Given the description of an element on the screen output the (x, y) to click on. 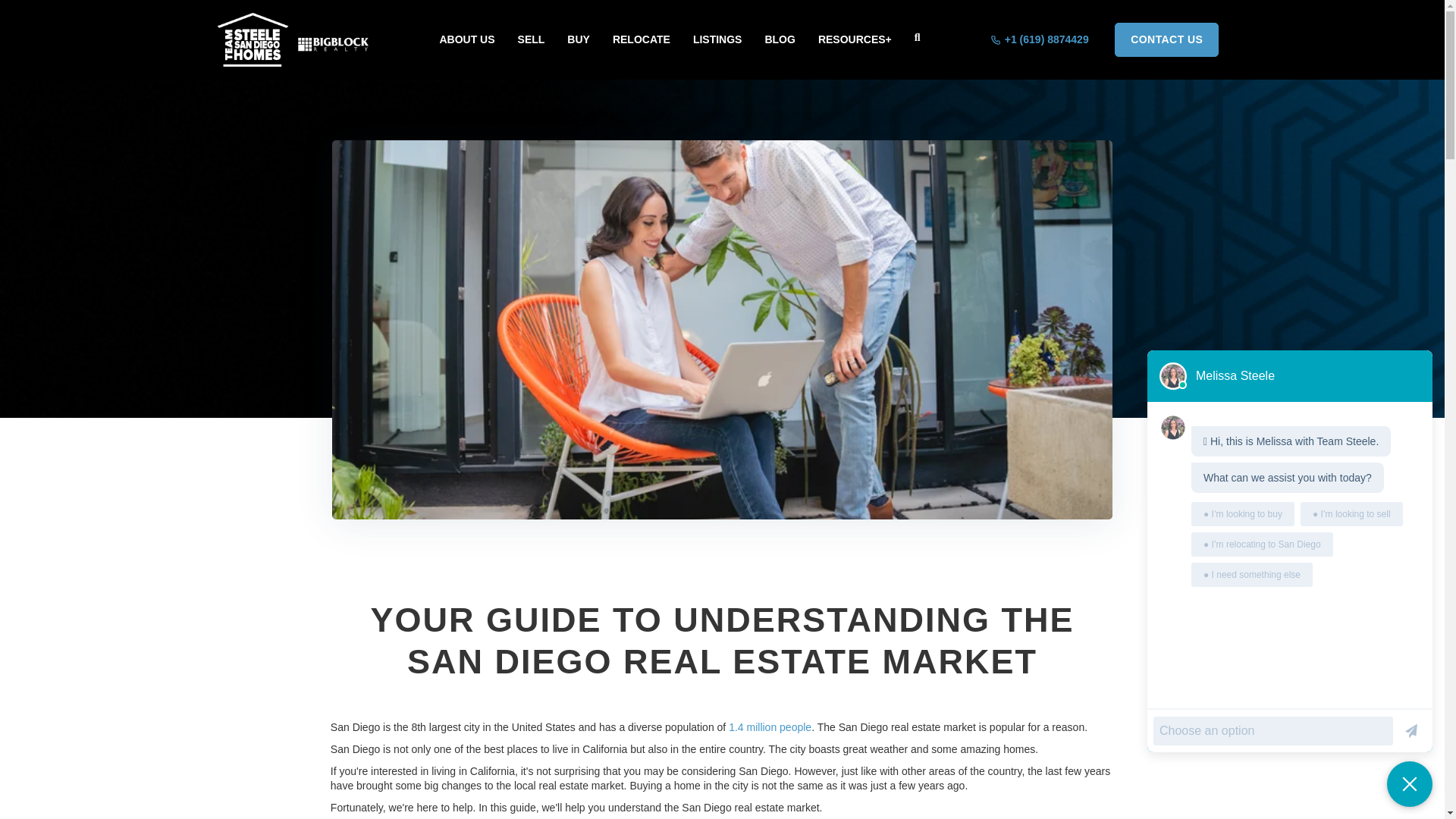
ABOUT US (466, 39)
LISTINGS (717, 39)
BUY (577, 39)
CONTACT US (1166, 39)
RELOCATE (641, 39)
1.4 million people (769, 727)
Contact Us (1166, 39)
BLOG (779, 39)
SELL (532, 39)
